Given the description of an element on the screen output the (x, y) to click on. 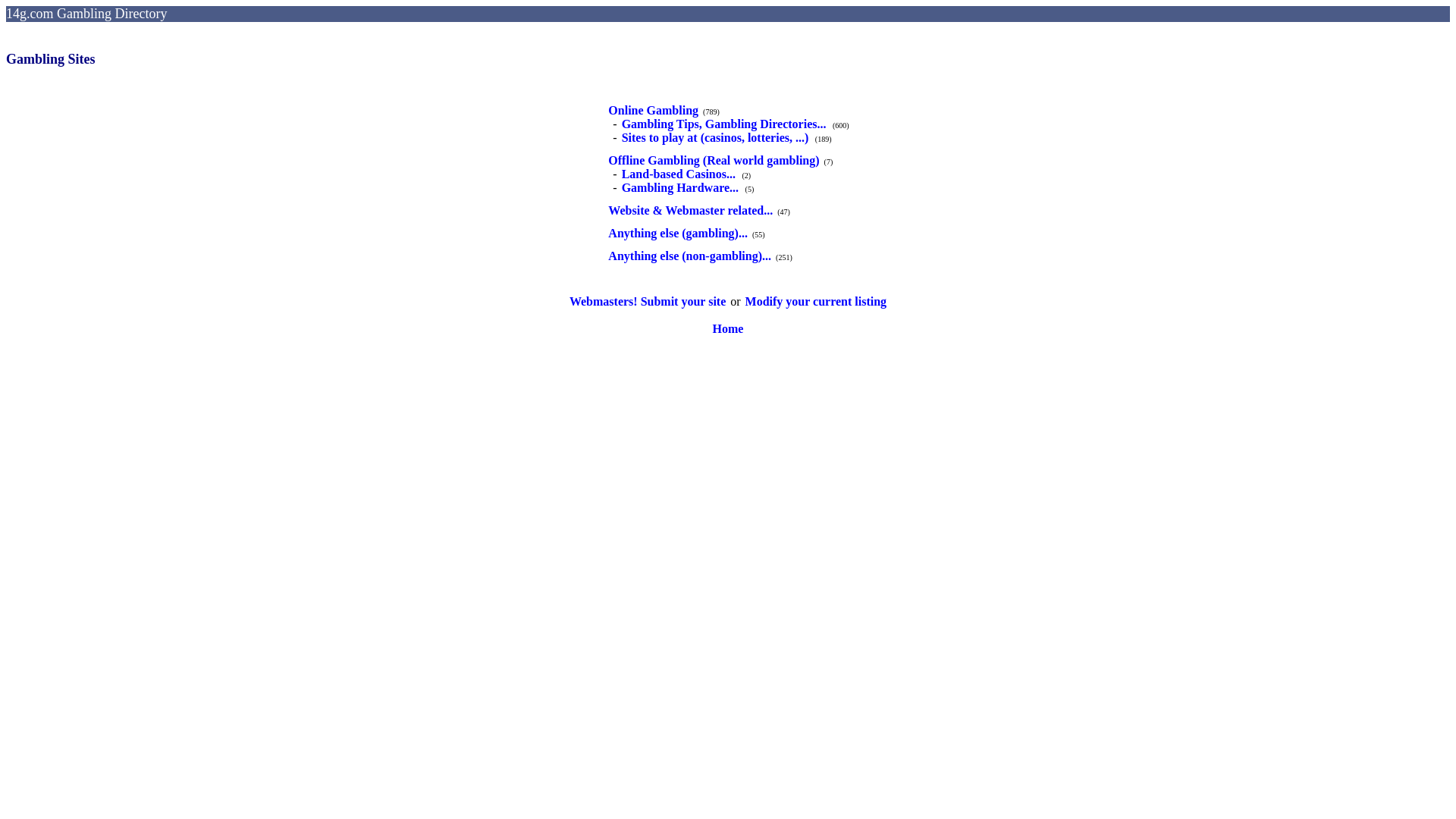
Land-based Casinos... Element type: text (678, 174)
Home Element type: text (728, 328)
Online Gambling Element type: text (652, 110)
Website & Webmaster related... Element type: text (690, 210)
Gambling Tips, Gambling Directories... Element type: text (724, 123)
Gambling Hardware... Element type: text (680, 187)
Offline Gambling (Real world gambling) Element type: text (713, 160)
Sites to play at (casinos, lotteries, ...) Element type: text (715, 137)
Modify your current listing Element type: text (815, 301)
Webmasters! Submit your site Element type: text (647, 301)
Anything else (non-gambling)... Element type: text (689, 255)
Anything else (gambling)... Element type: text (677, 233)
